Given the description of an element on the screen output the (x, y) to click on. 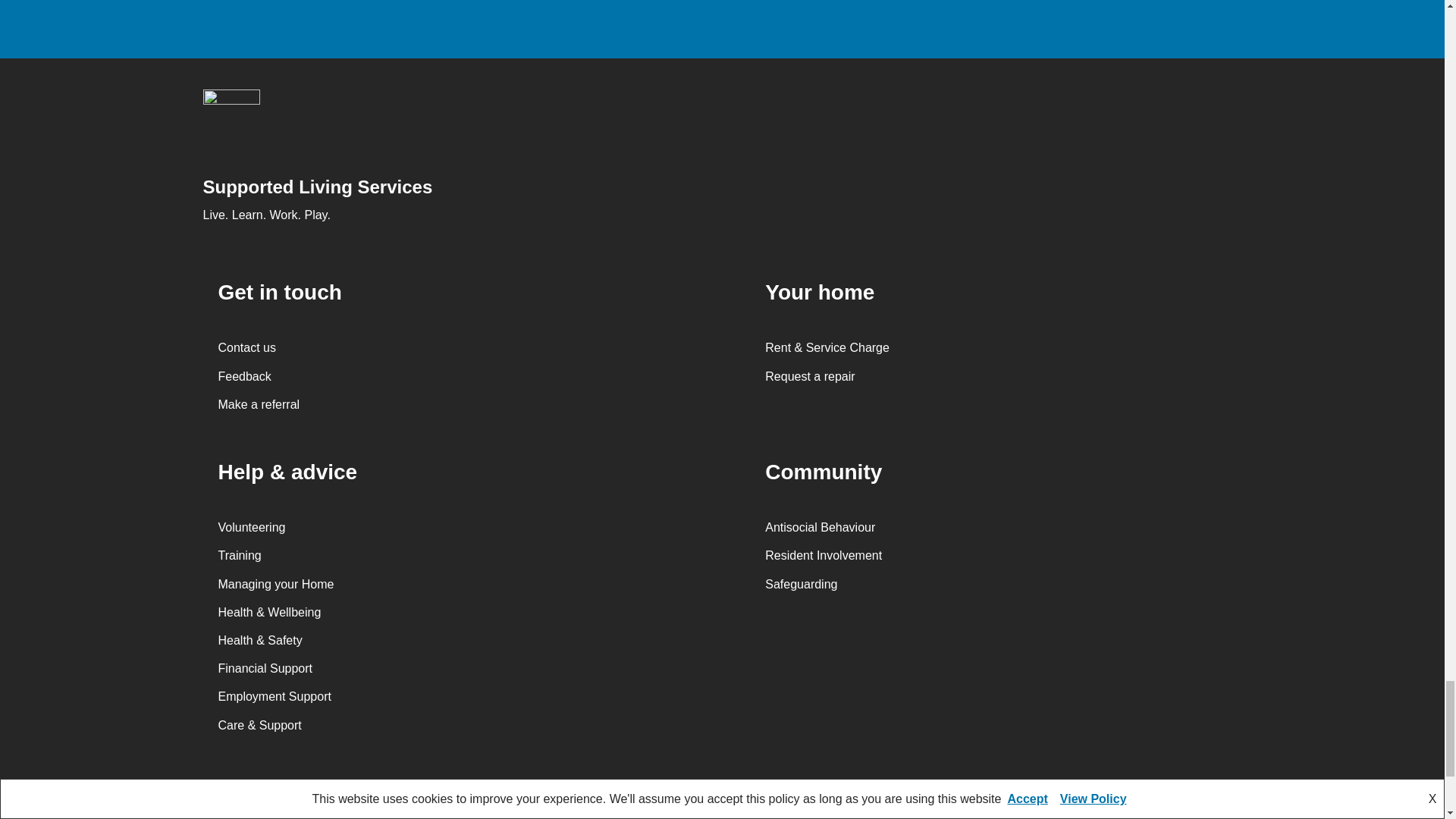
Training (240, 554)
Feedback (244, 376)
Make a referral (258, 404)
Managing your Home (276, 584)
Employment Support (274, 696)
Request a repair (809, 376)
Contact us (247, 347)
Financial Support (265, 667)
Volunteering (251, 526)
